Given the description of an element on the screen output the (x, y) to click on. 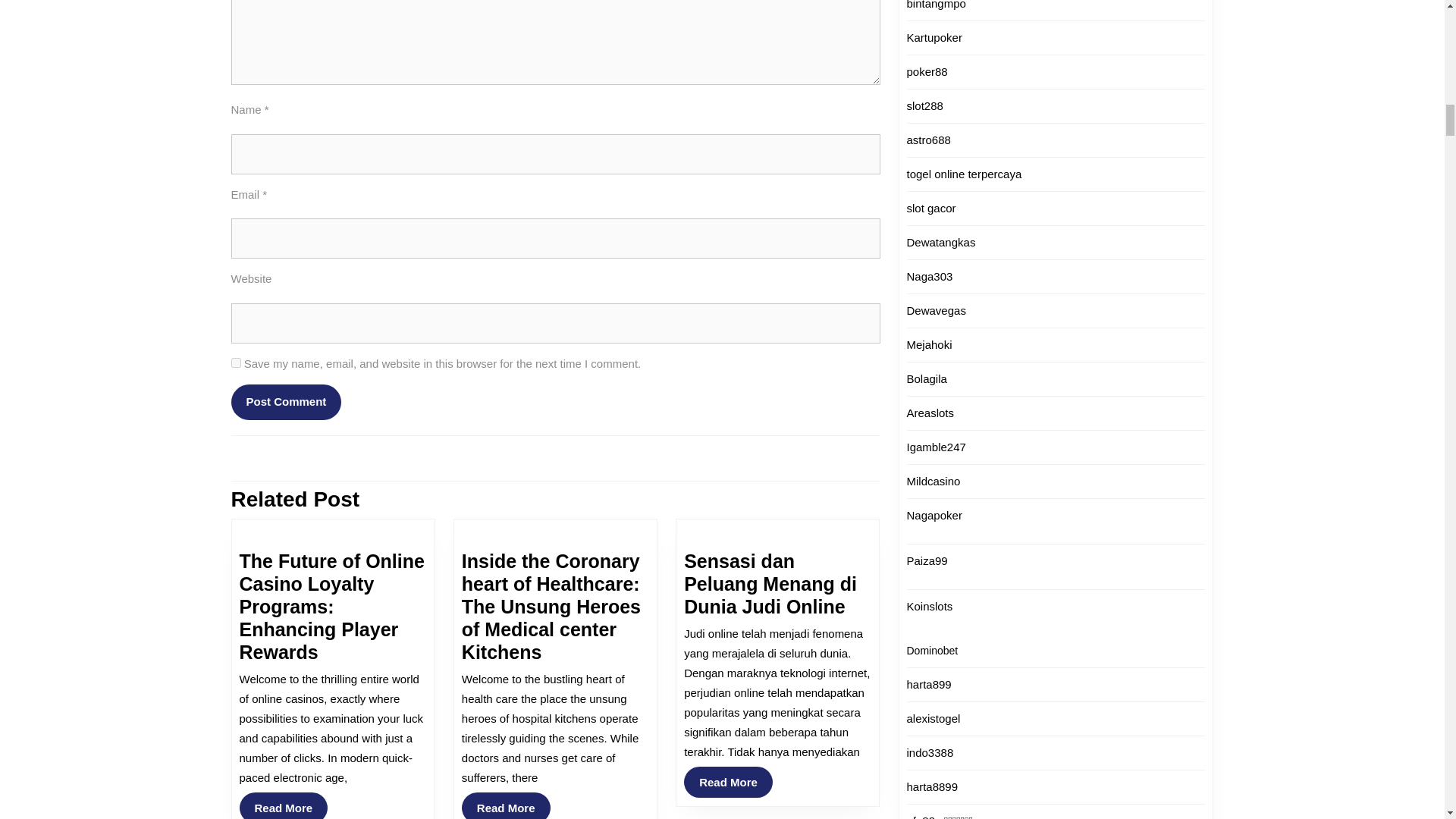
Post Comment (716, 457)
yes (505, 805)
Post Comment (284, 805)
